Given the description of an element on the screen output the (x, y) to click on. 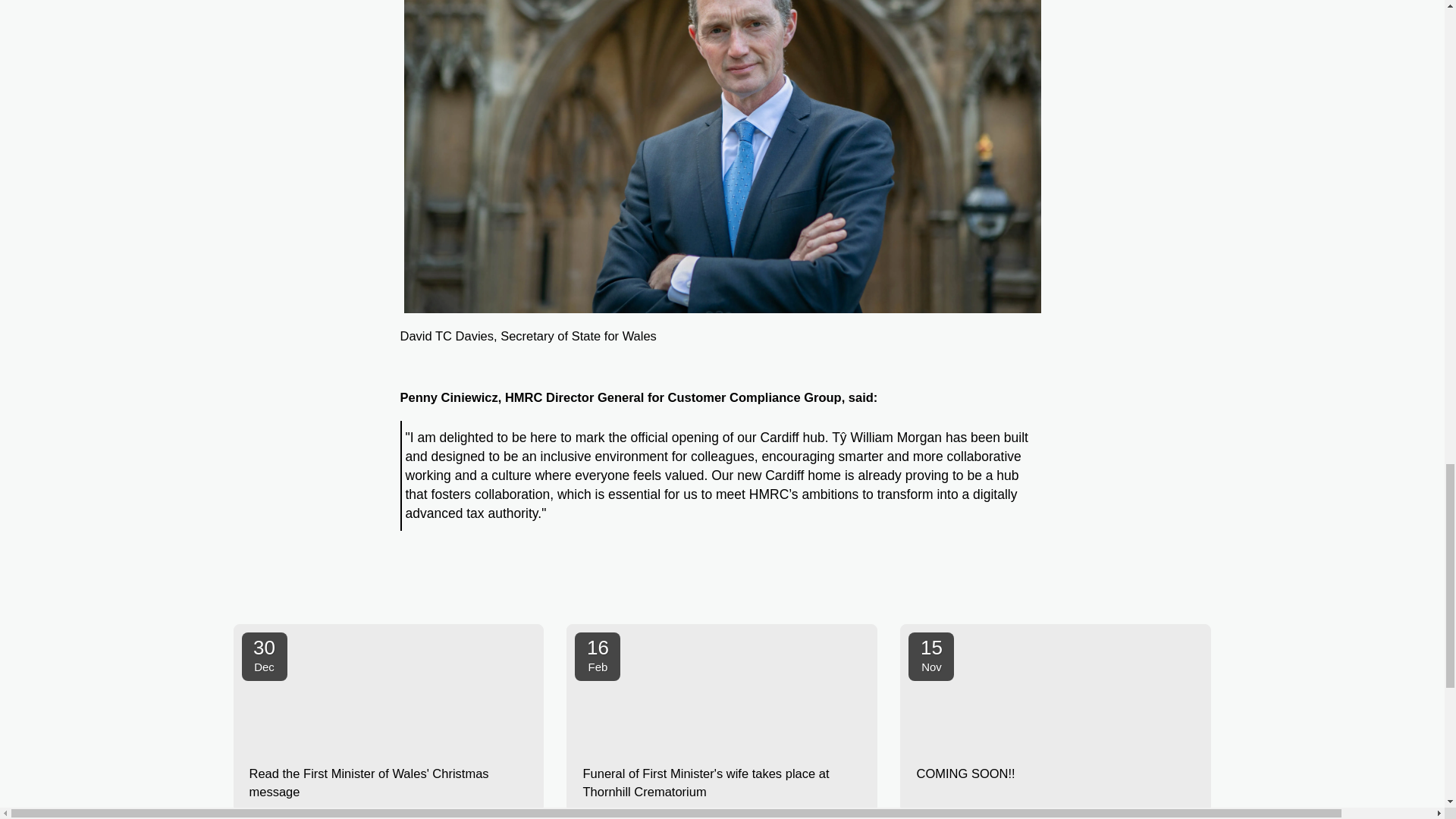
Share on Facebook (945, 588)
Pin it (1002, 588)
RSS (1029, 588)
Tweet (973, 588)
